Given the description of an element on the screen output the (x, y) to click on. 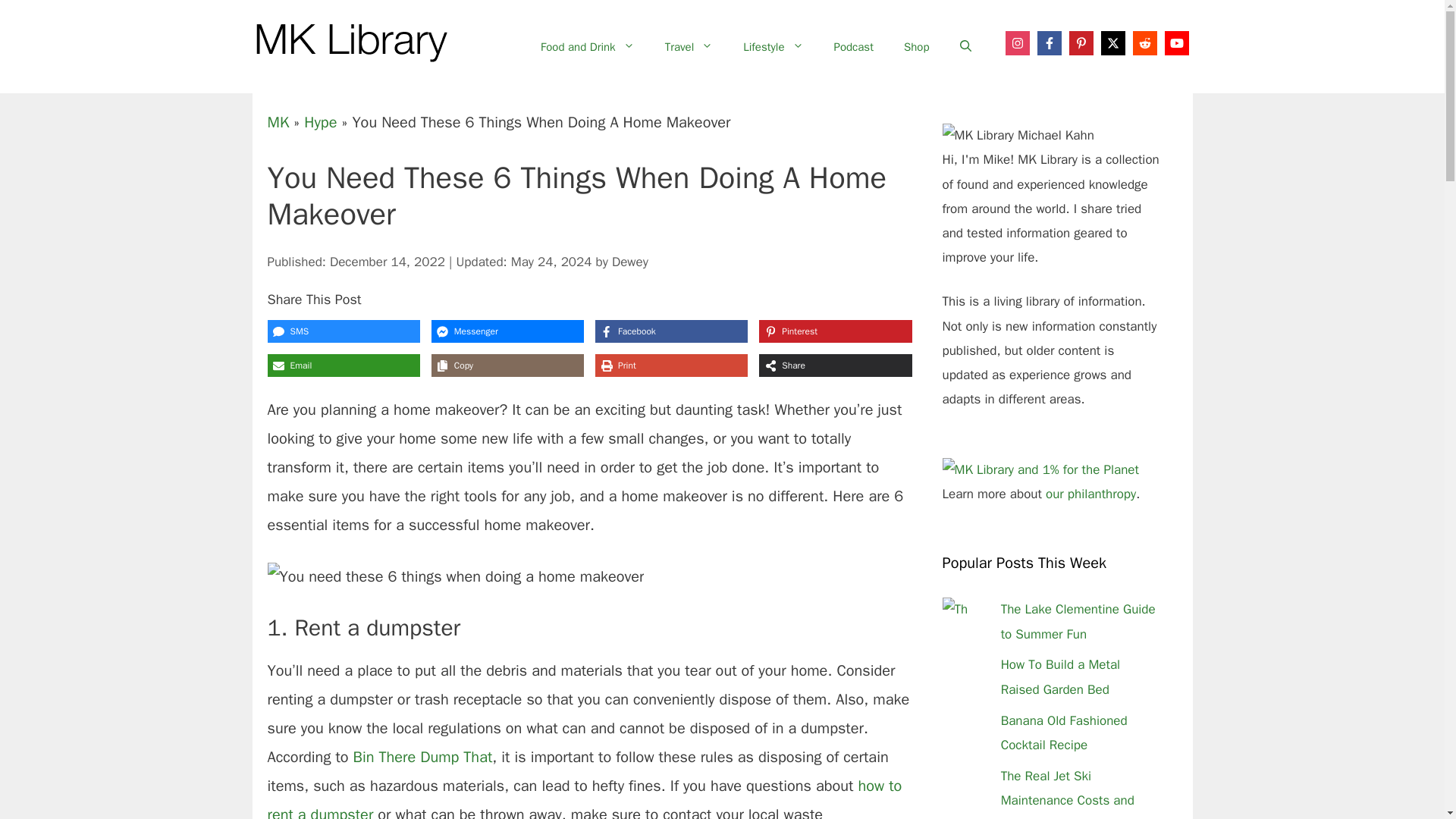
Lifestyle (773, 46)
Travel (689, 46)
Banana Old Fashioned Cocktail Recipe (1063, 732)
Food and Drink (587, 46)
You need these 6 things when doing a home makeover (454, 576)
The Lake Clementine Guide to Summer Fun (1078, 621)
View all posts by Dewey (629, 261)
Podcast (853, 46)
Shop (916, 46)
How To Build a Metal Raised Garden Bed (1061, 676)
